Given the description of an element on the screen output the (x, y) to click on. 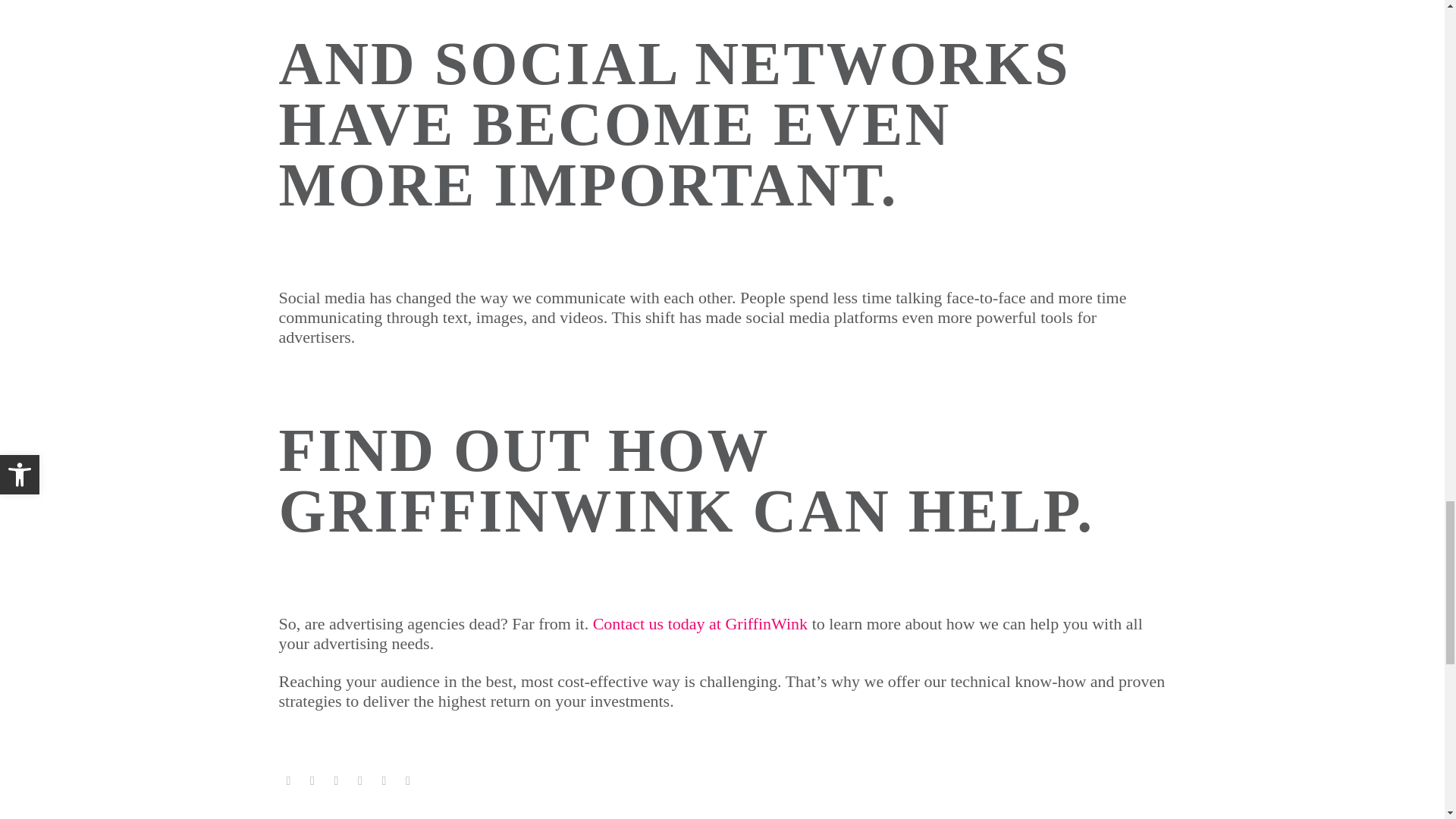
Contact us today at GriffinWink (700, 623)
Twitter (311, 780)
Facebook (288, 780)
Reddit (407, 780)
Pinterest (336, 780)
Tumblr (359, 780)
LinkedIn (383, 780)
